Given the description of an element on the screen output the (x, y) to click on. 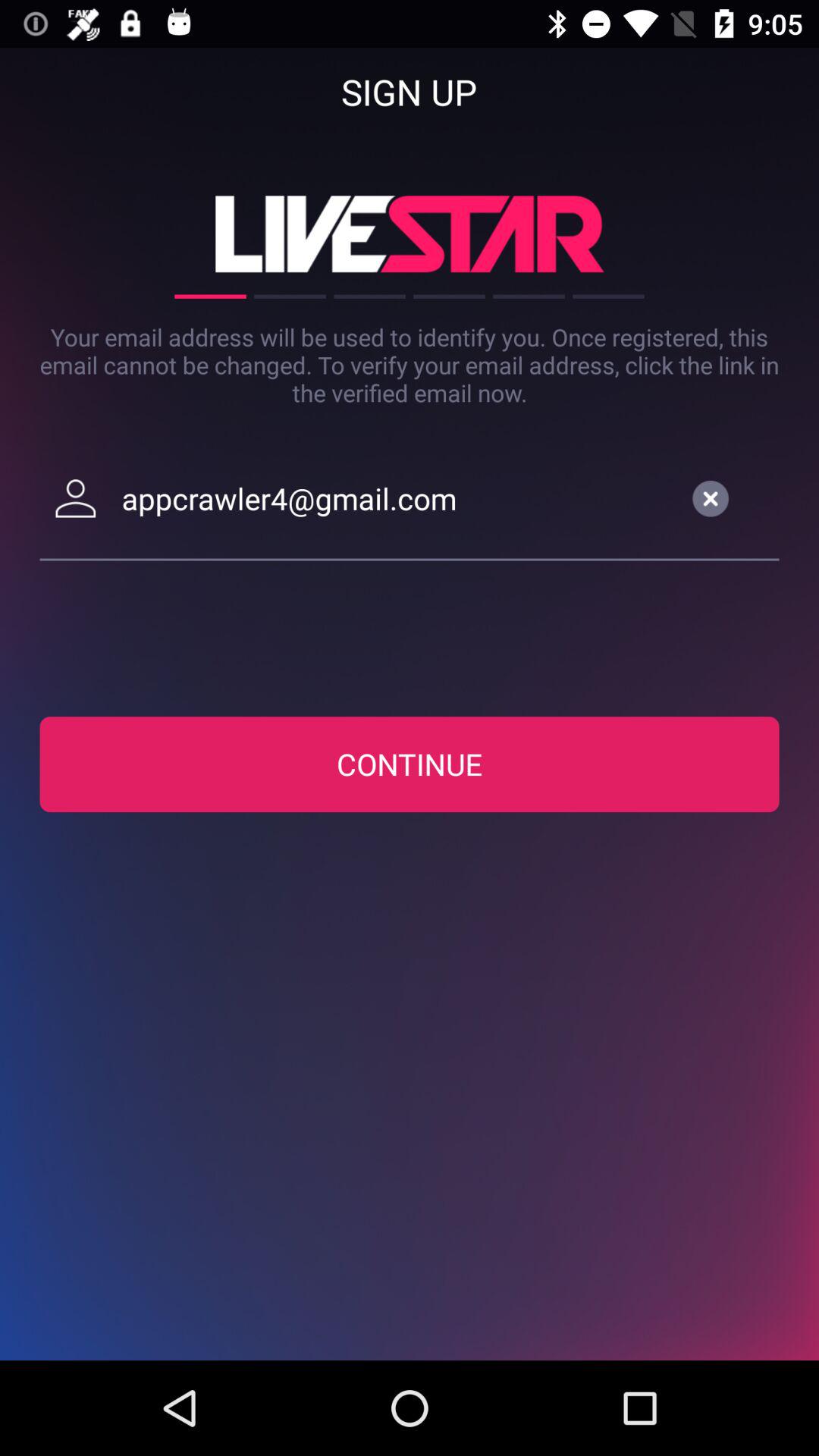
jump until appcrawler4@gmail.com icon (396, 498)
